Given the description of an element on the screen output the (x, y) to click on. 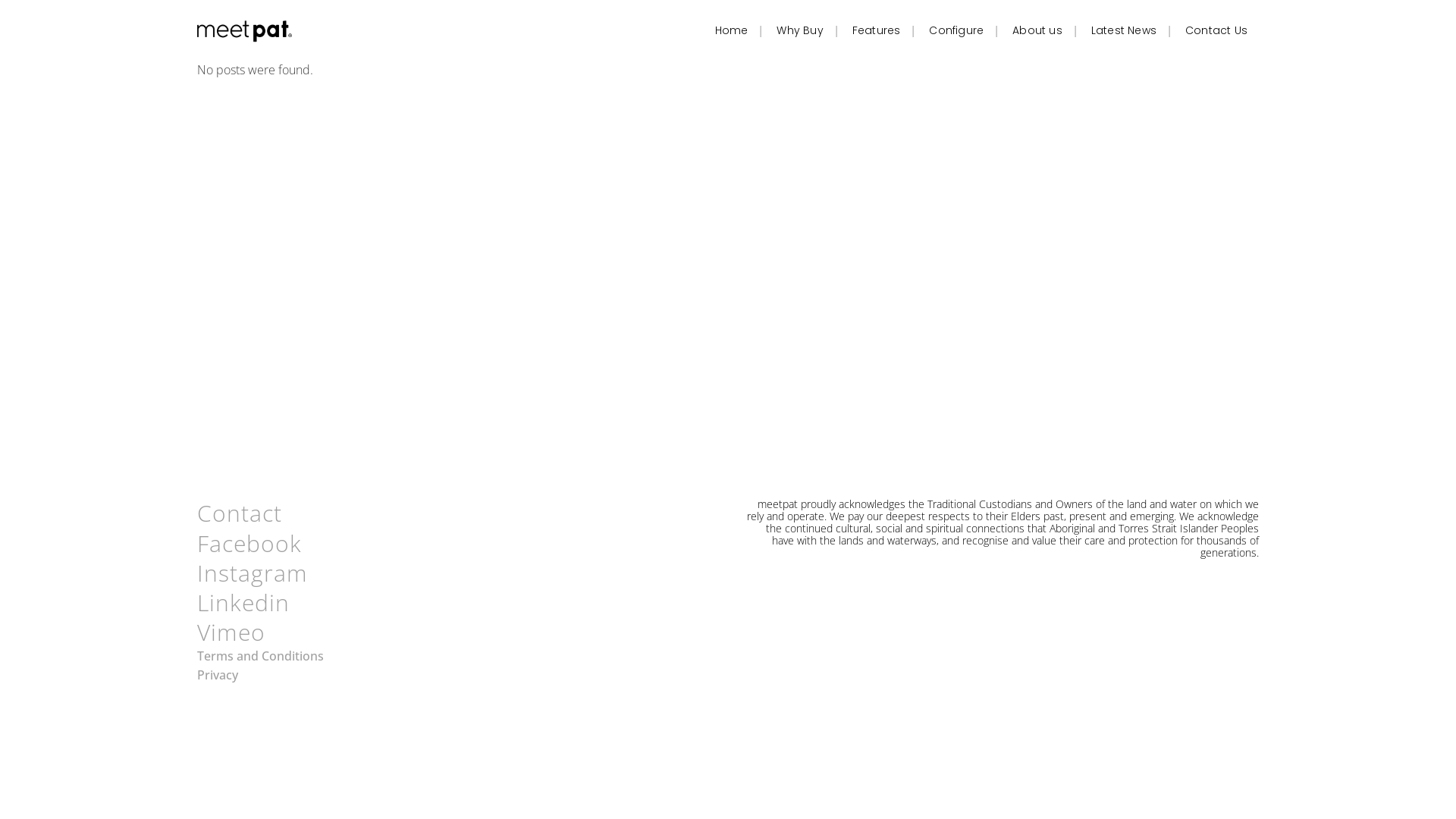
Home Element type: text (731, 30)
Latest News Element type: text (1123, 30)
Terms and Conditions Element type: text (260, 655)
Privacy Element type: text (217, 674)
Instagram Element type: text (252, 572)
Facebook Element type: text (249, 542)
About us Element type: text (1037, 30)
Vimeo Element type: text (231, 631)
Configure Element type: text (955, 30)
Why Buy Element type: text (799, 30)
Linkedin Element type: text (243, 602)
Contact Element type: text (239, 512)
Contact Us Element type: text (1215, 30)
Features Element type: text (876, 30)
